Given the description of an element on the screen output the (x, y) to click on. 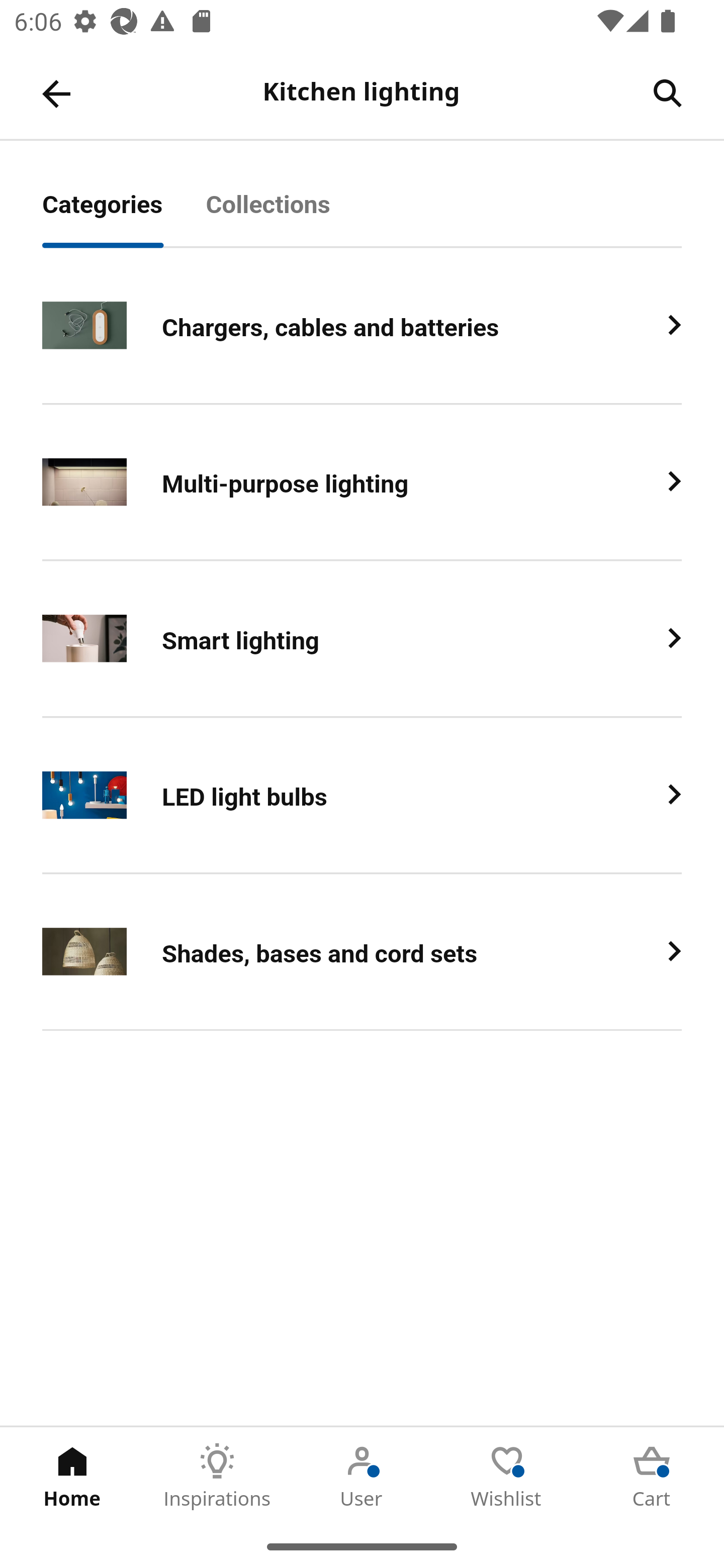
Categories
Tab 1 of 2 (123, 215)
Collections
Tab 2 of 2 (289, 215)
Chargers, cables and batteries (361, 325)
Multi-purpose lighting (361, 482)
Smart lighting (361, 639)
LED light bulbs (361, 796)
Shades, bases and cord sets (361, 952)
Home
Tab 1 of 5 (72, 1476)
Inspirations
Tab 2 of 5 (216, 1476)
User
Tab 3 of 5 (361, 1476)
Wishlist
Tab 4 of 5 (506, 1476)
Cart
Tab 5 of 5 (651, 1476)
